Given the description of an element on the screen output the (x, y) to click on. 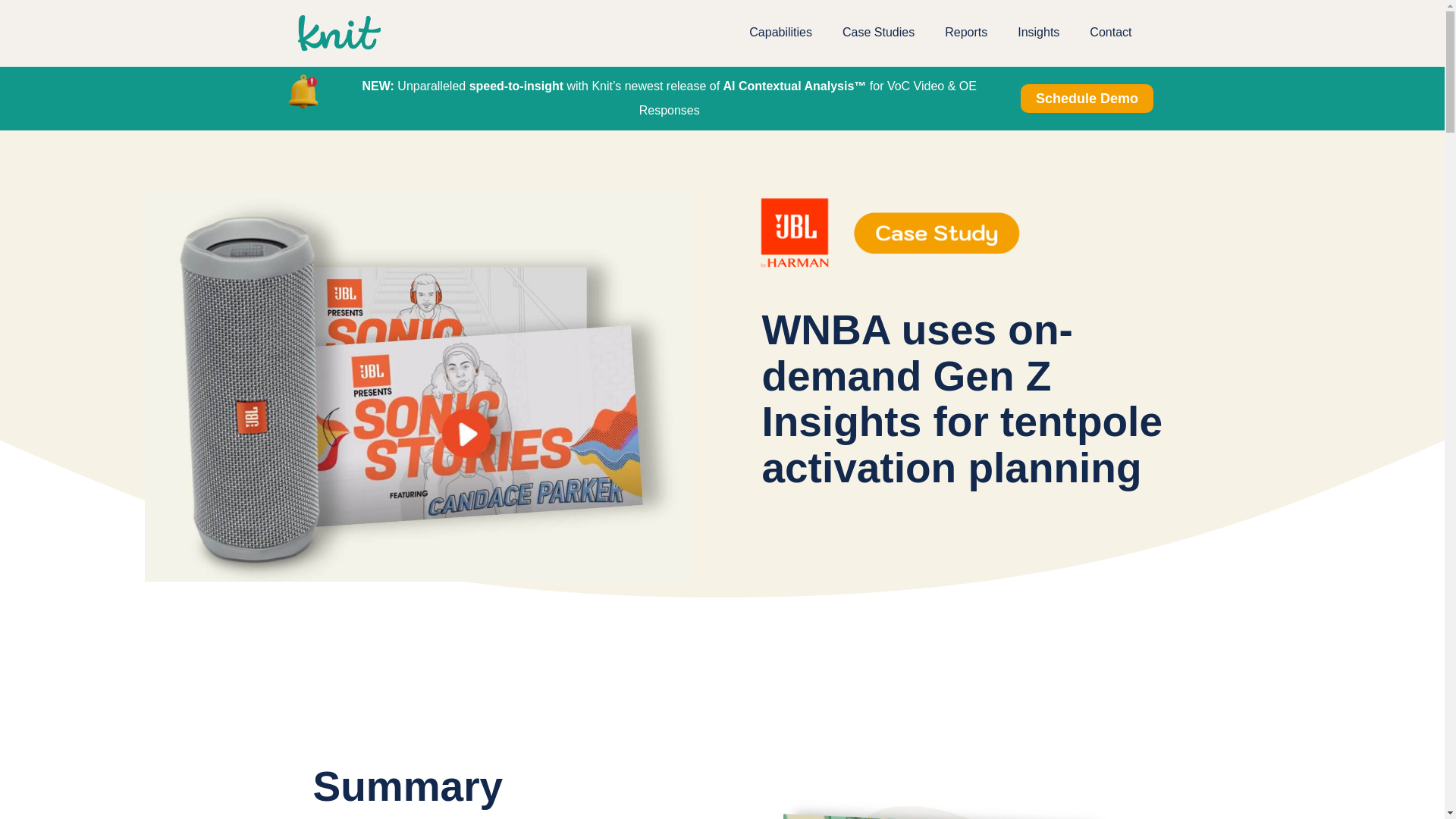
Knit JBL Logo Case Study (890, 233)
Insights (1038, 32)
Capabilities (780, 32)
Contact (1110, 32)
Case Studies (878, 32)
Reports (966, 32)
Knit JBL Sonic Stories Data Screenshot (952, 800)
